Given the description of an element on the screen output the (x, y) to click on. 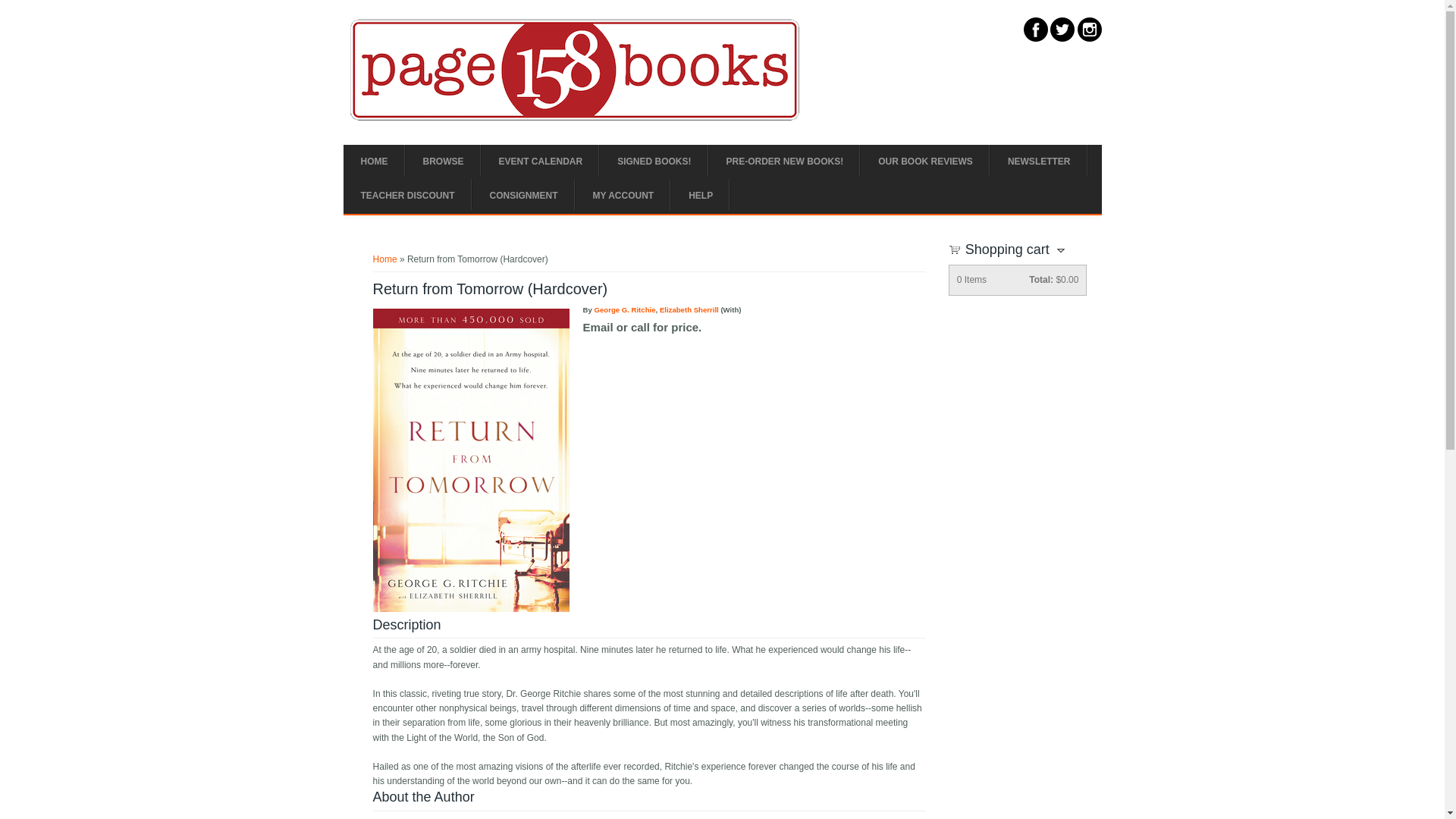
Consignment Information (523, 195)
Elizabeth Sherrill (689, 309)
Home (384, 258)
PRE-ORDER NEW BOOKS! (785, 161)
Home page (373, 161)
MY ACCOUNT (623, 195)
Home (574, 118)
George G. Ritchie (624, 309)
SIGNED BOOKS! (653, 161)
EVENT CALENDAR (539, 161)
Are you a teacher? Click here to get a discount! (406, 195)
OUR BOOK REVIEWS (925, 161)
NEWSLETTER (1038, 161)
Pre-order your favorite new books here! (785, 161)
CONSIGNMENT (523, 195)
